Given the description of an element on the screen output the (x, y) to click on. 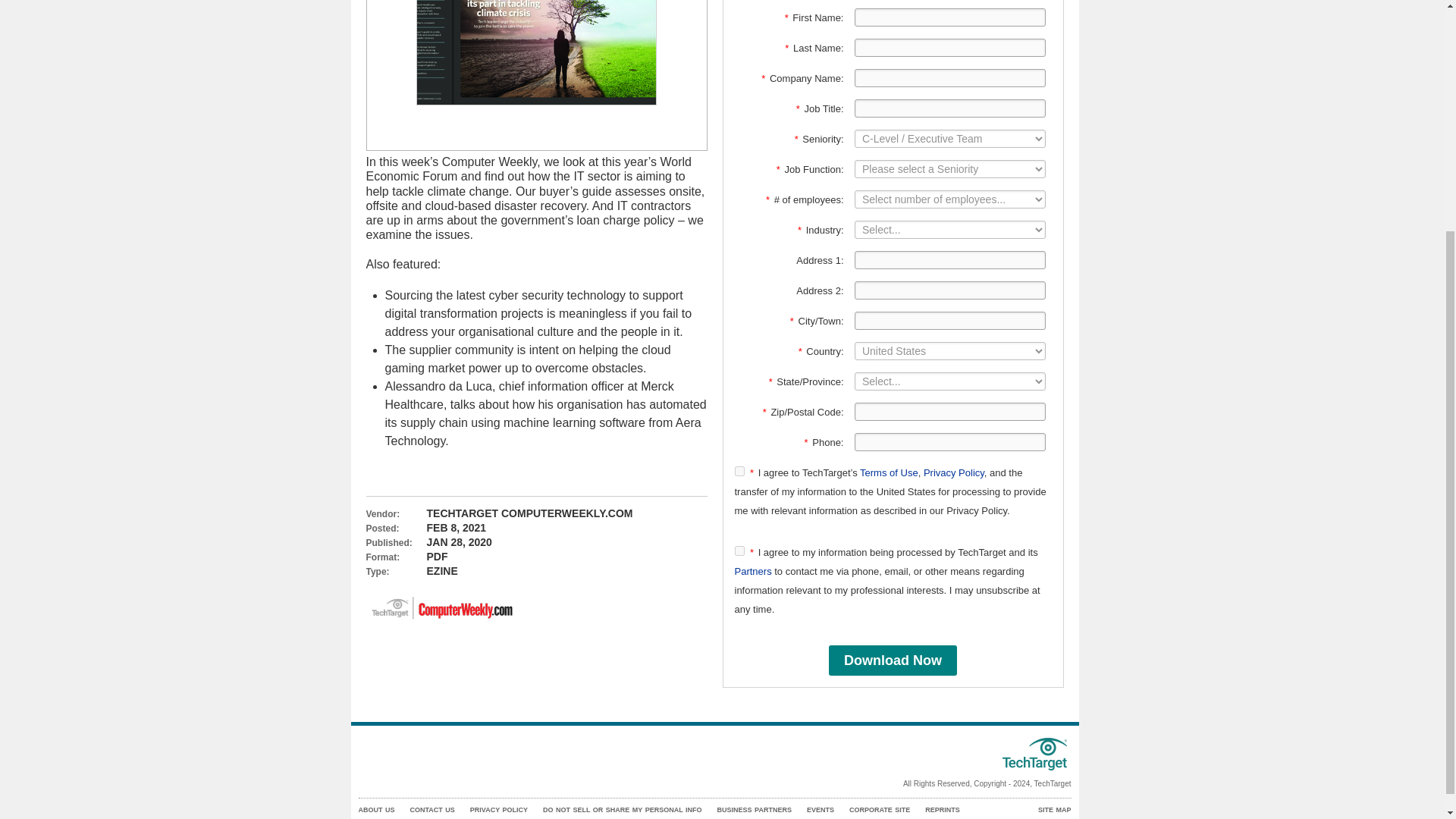
CORPORATE SITE (879, 809)
CONTACT US (431, 809)
Download Now (892, 660)
PRIVACY POLICY (498, 809)
Partners (752, 571)
SITE MAP (1054, 809)
Terms of Use (889, 472)
true (738, 470)
ABOUT US (376, 809)
DO NOT SELL OR SHARE MY PERSONAL INFO (622, 809)
